Given the description of an element on the screen output the (x, y) to click on. 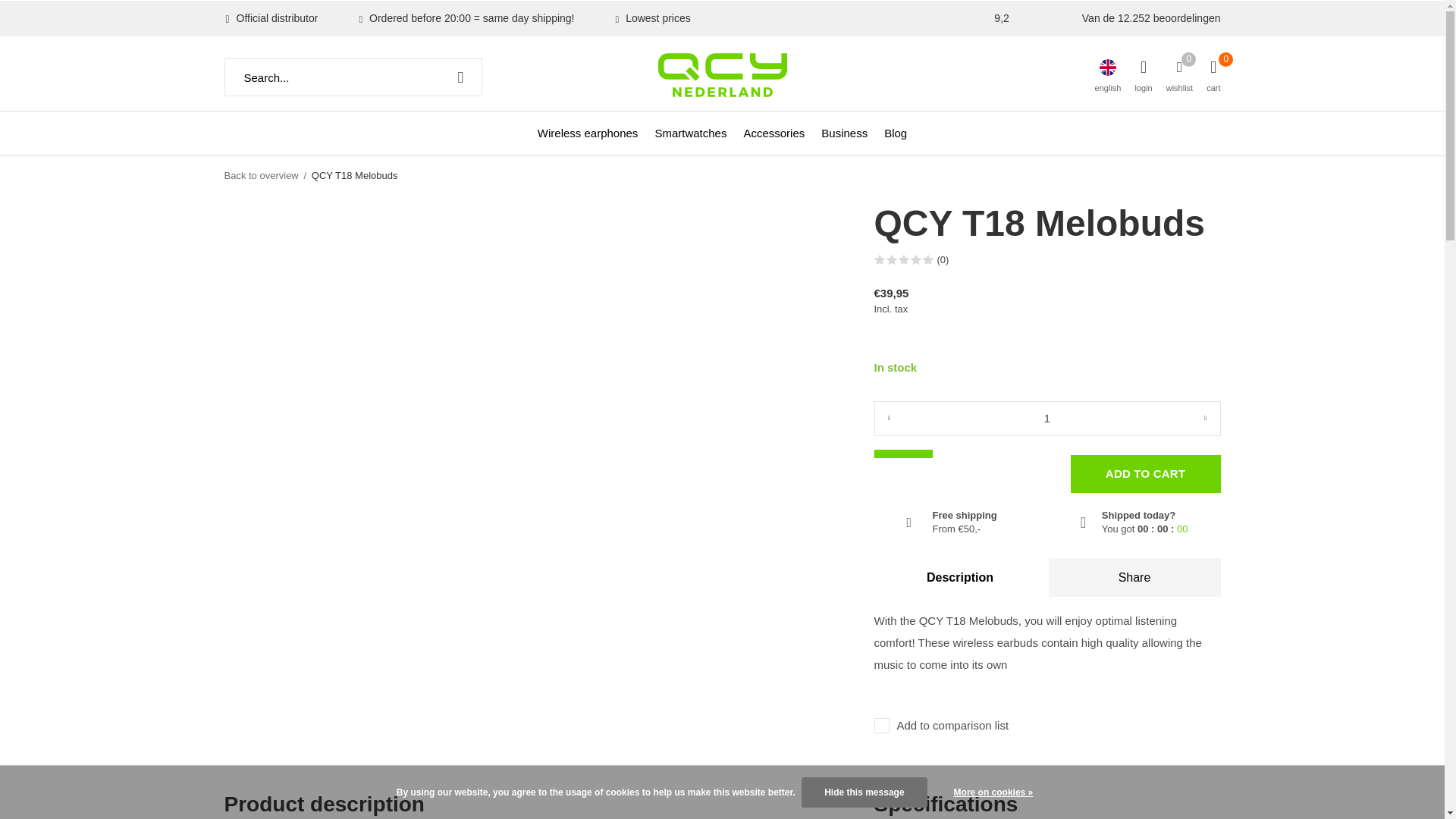
Blog (895, 132)
Smartwatches (689, 132)
Wireless earphones (588, 132)
Hide this message (864, 792)
SEARCH (460, 77)
More on cookies (993, 792)
Accessories (773, 132)
1 (1046, 418)
9,2Van de 12.252 beoordelingen (1107, 18)
Back to overview (261, 174)
Business (844, 132)
Blog (895, 132)
